Given the description of an element on the screen output the (x, y) to click on. 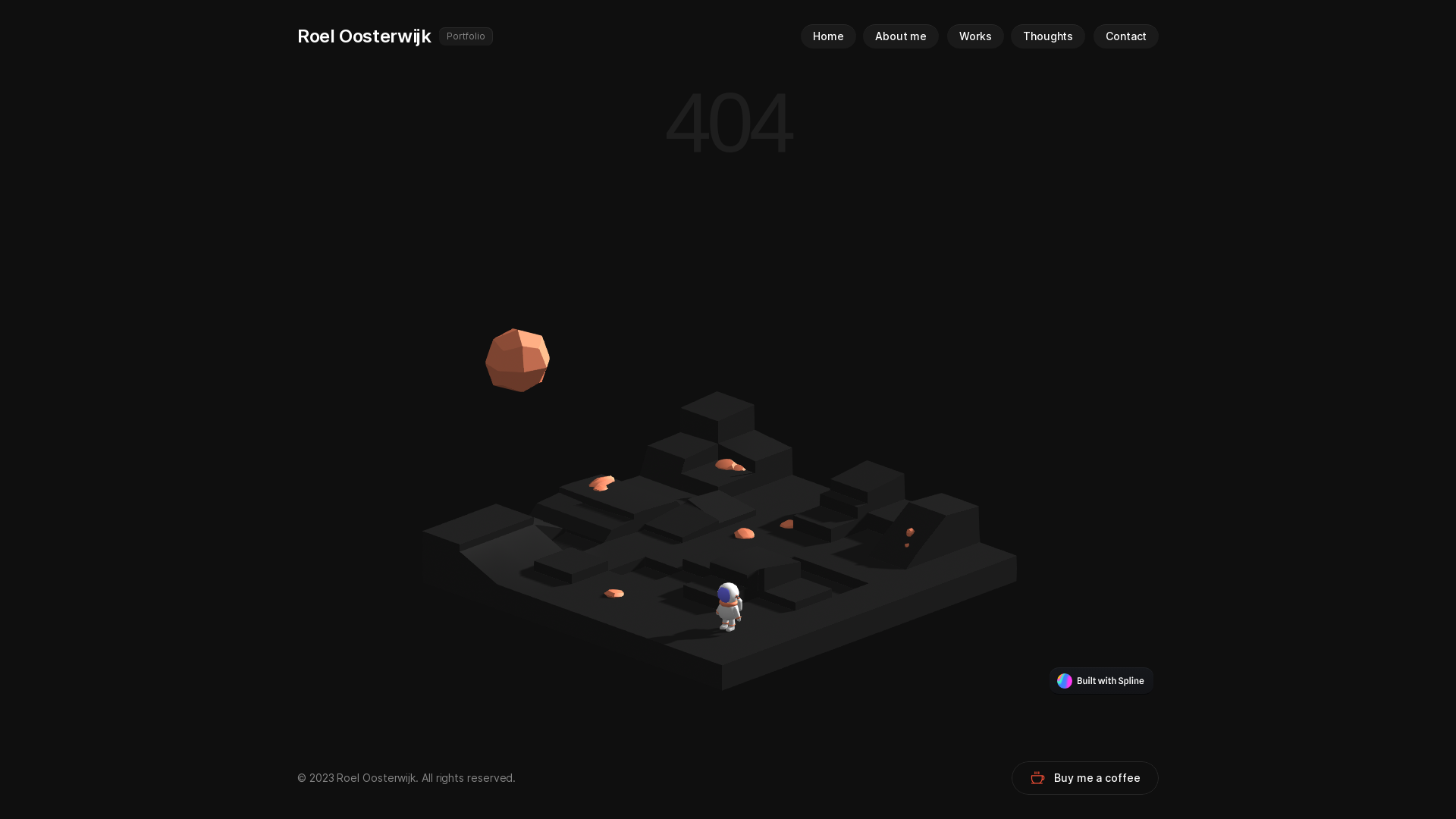
Thoughts Element type: text (1047, 36)
Contact Element type: text (1125, 36)
Home Element type: text (828, 36)
About me Element type: text (900, 36)
Roel Oosterwijk
Portfolio Element type: text (545, 36)
Buy me a coffee Element type: text (1084, 777)
Works Element type: text (975, 36)
